Given the description of an element on the screen output the (x, y) to click on. 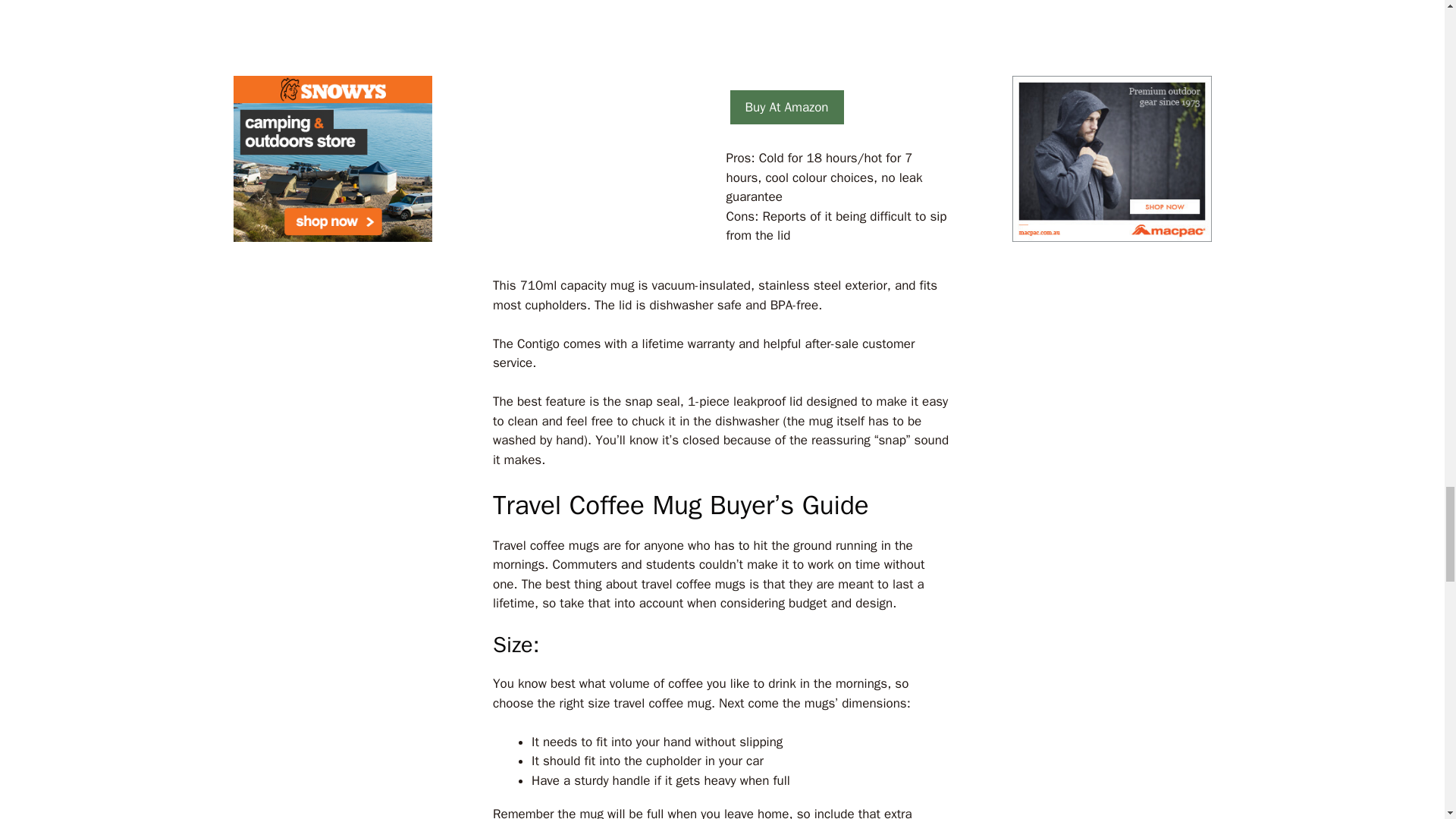
Buy At Amazon (786, 107)
